Given the description of an element on the screen output the (x, y) to click on. 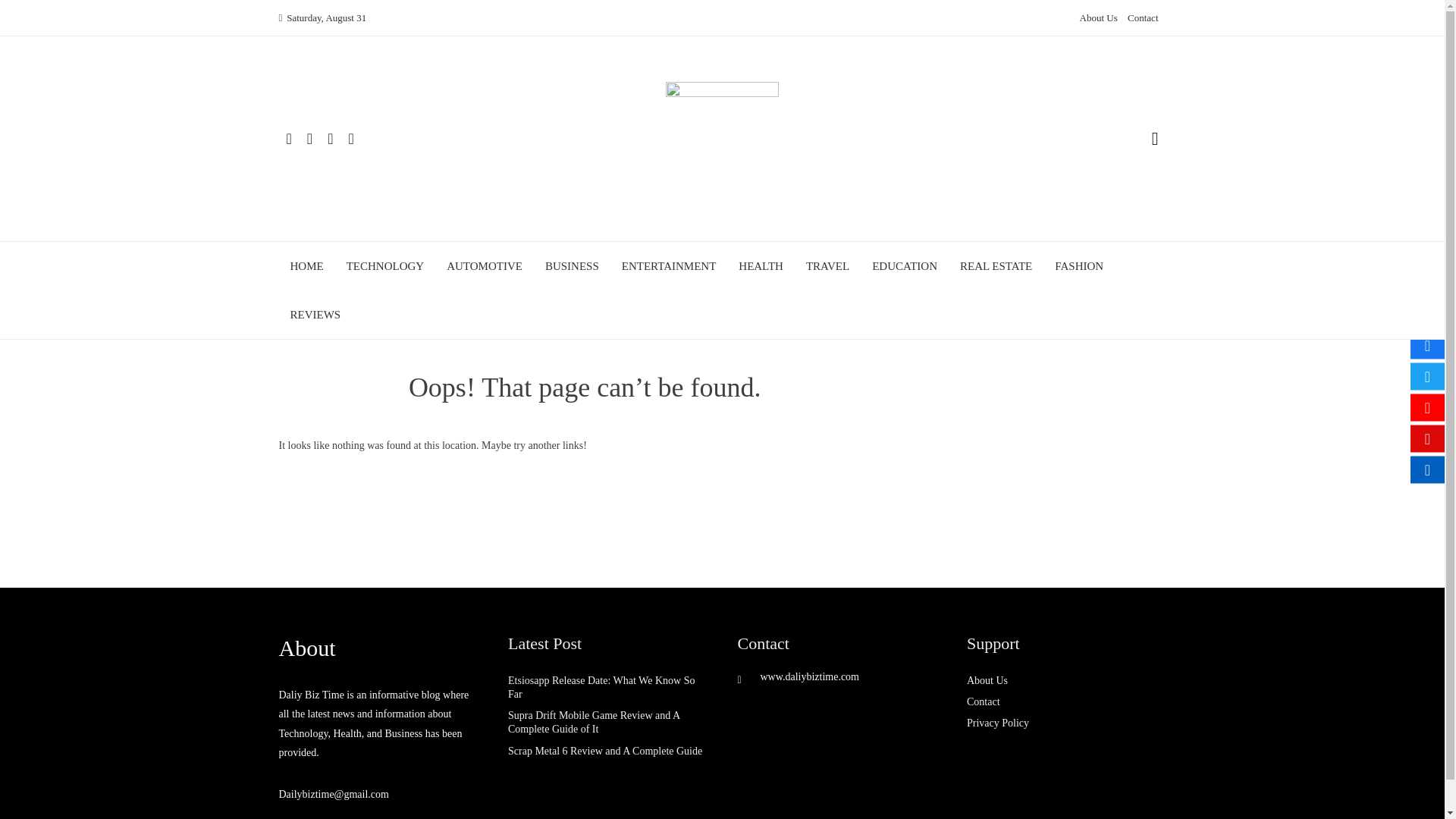
HOME (306, 265)
FASHION (1078, 265)
BUSINESS (571, 265)
Contact (983, 701)
TECHNOLOGY (385, 265)
EDUCATION (904, 265)
REVIEWS (314, 314)
Etsiosapp Release Date: What We Know So Far (601, 687)
Contact (1141, 17)
AUTOMOTIVE (484, 265)
